Given the description of an element on the screen output the (x, y) to click on. 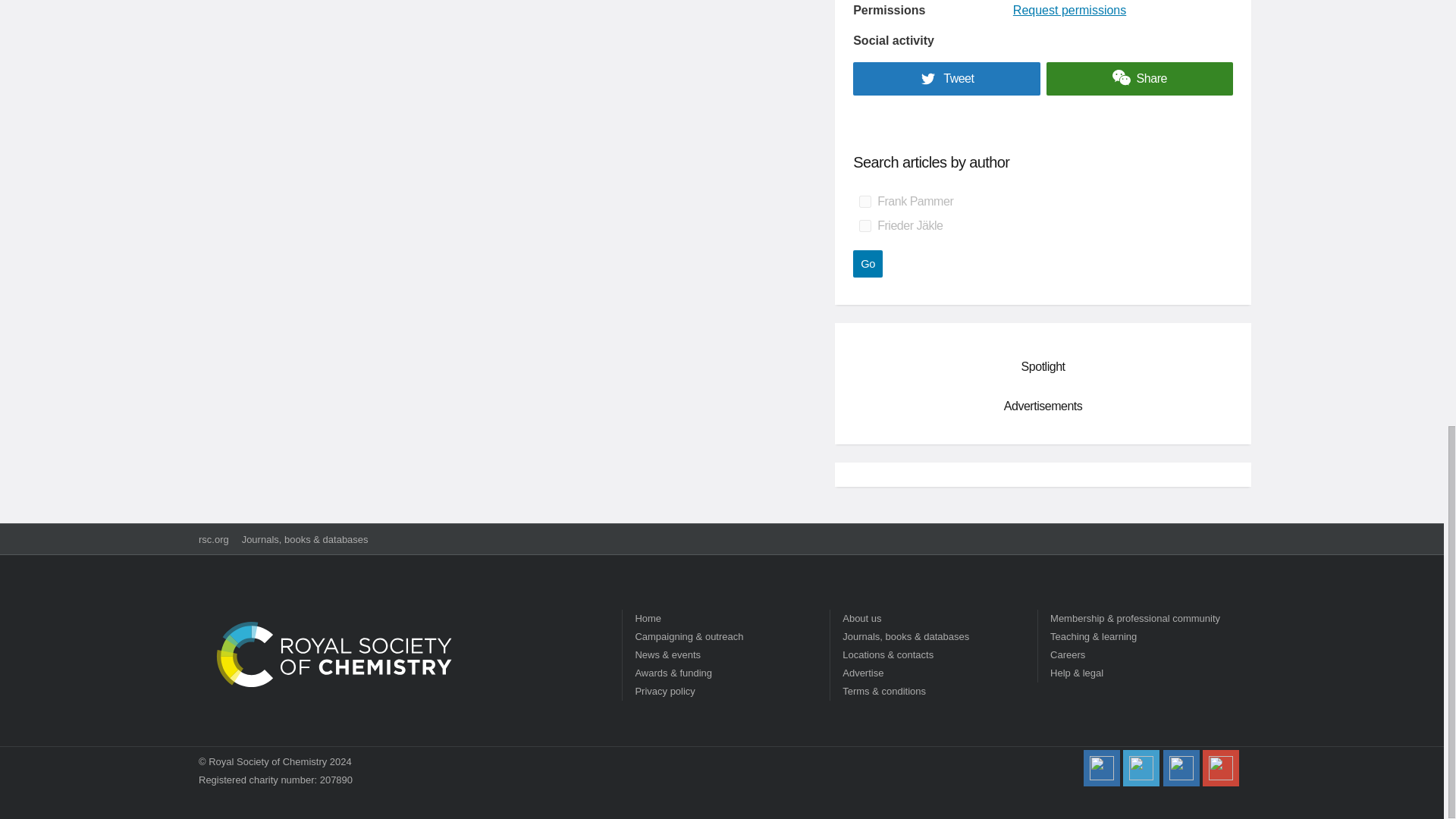
Request permissions (1068, 10)
Go (867, 263)
on (864, 225)
Go (867, 263)
on (864, 201)
